Given the description of an element on the screen output the (x, y) to click on. 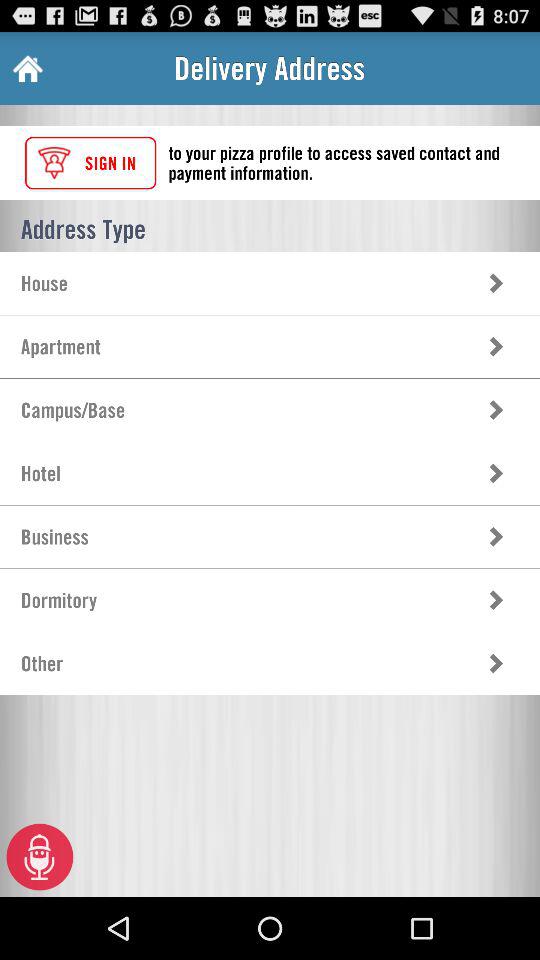
select sign in (90, 162)
